Given the description of an element on the screen output the (x, y) to click on. 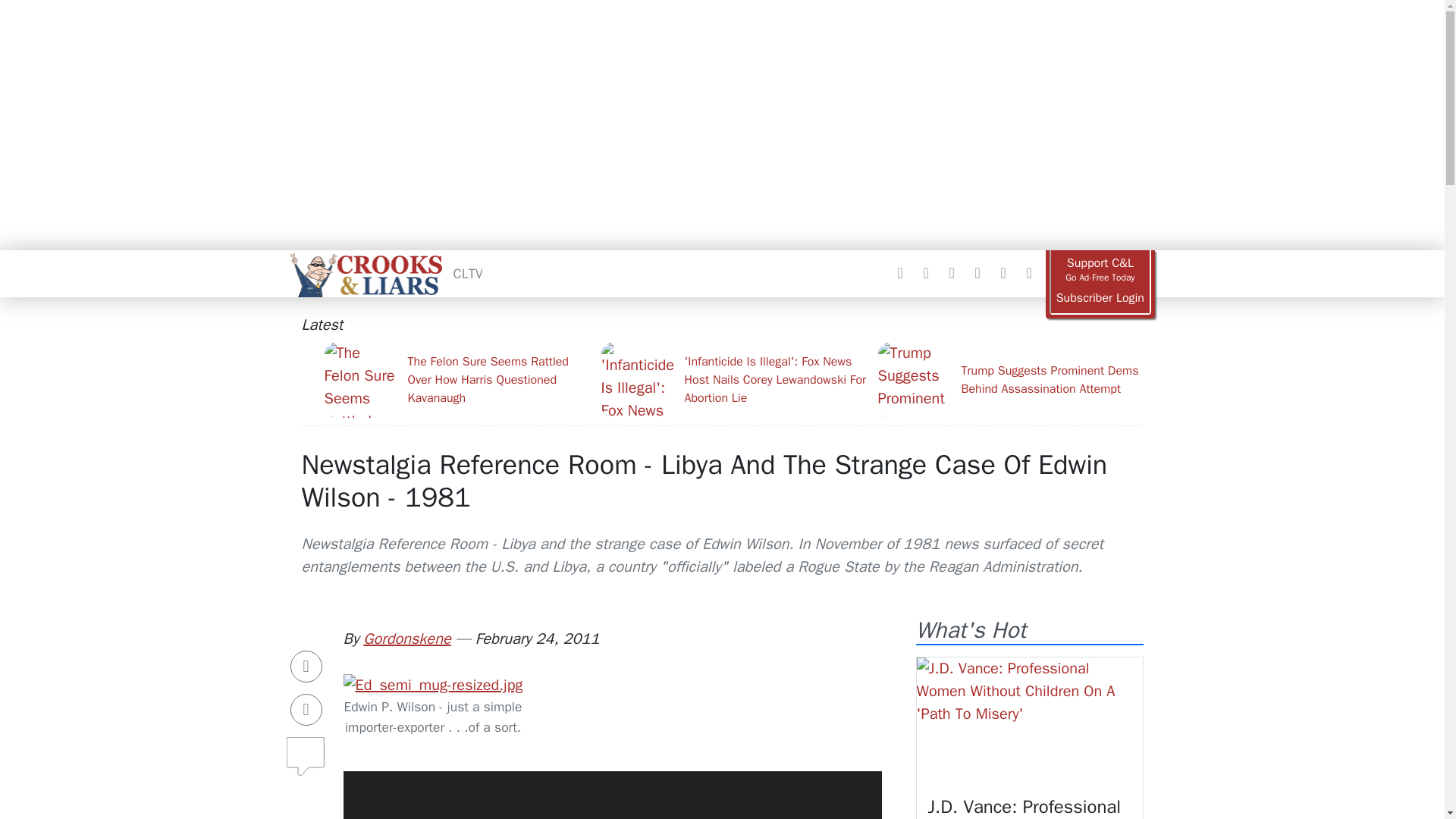
Go ad free today! (1099, 270)
Share on Facebook (306, 666)
CLTV (467, 273)
Comments (306, 750)
Subscriber Login (1099, 298)
Trump Suggests Prominent Dems Behind Assassination Attempt (1009, 379)
